Given the description of an element on the screen output the (x, y) to click on. 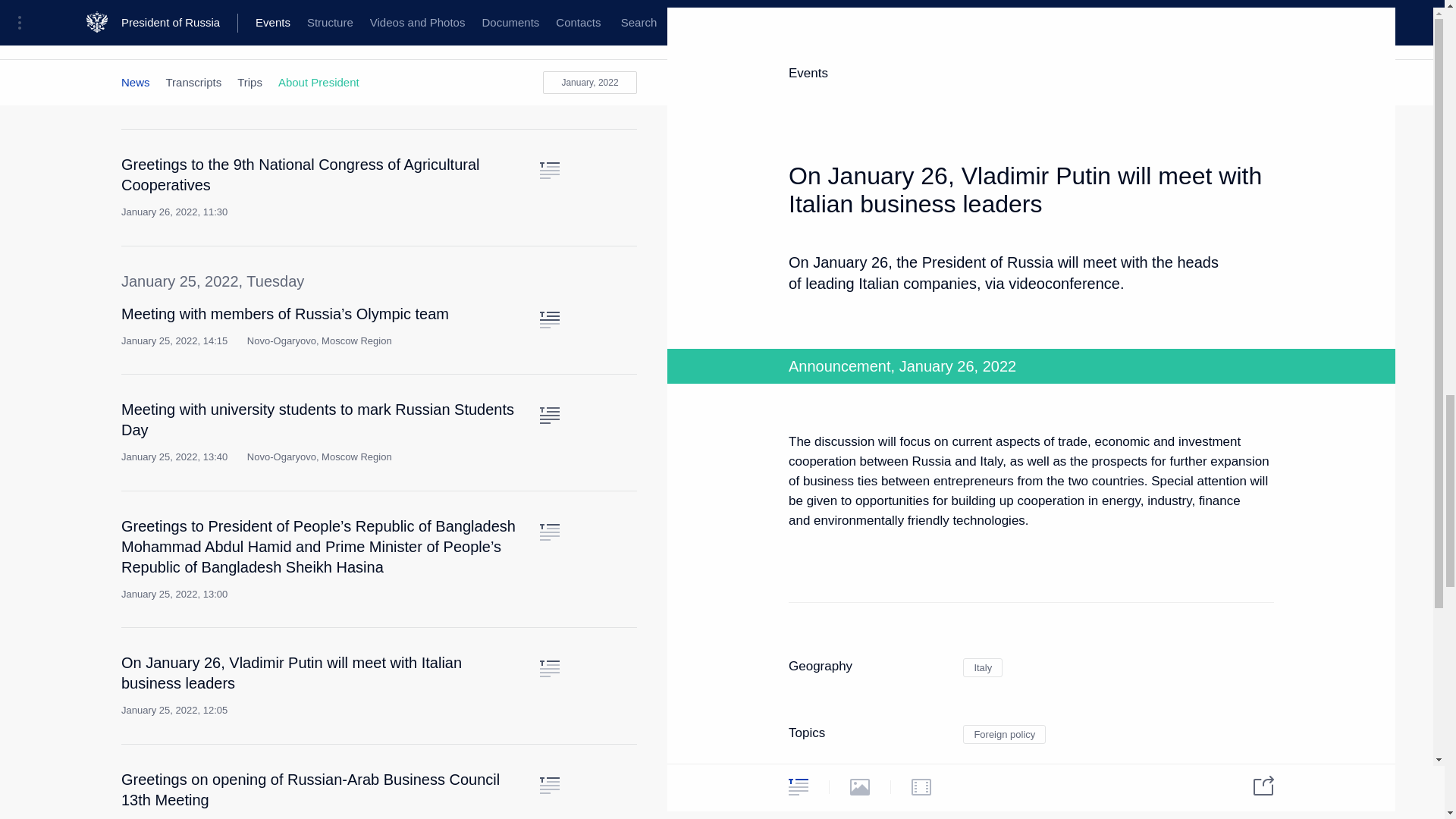
Text of the article (549, 74)
Text of the article (549, 170)
Text of the article (549, 320)
